Given the description of an element on the screen output the (x, y) to click on. 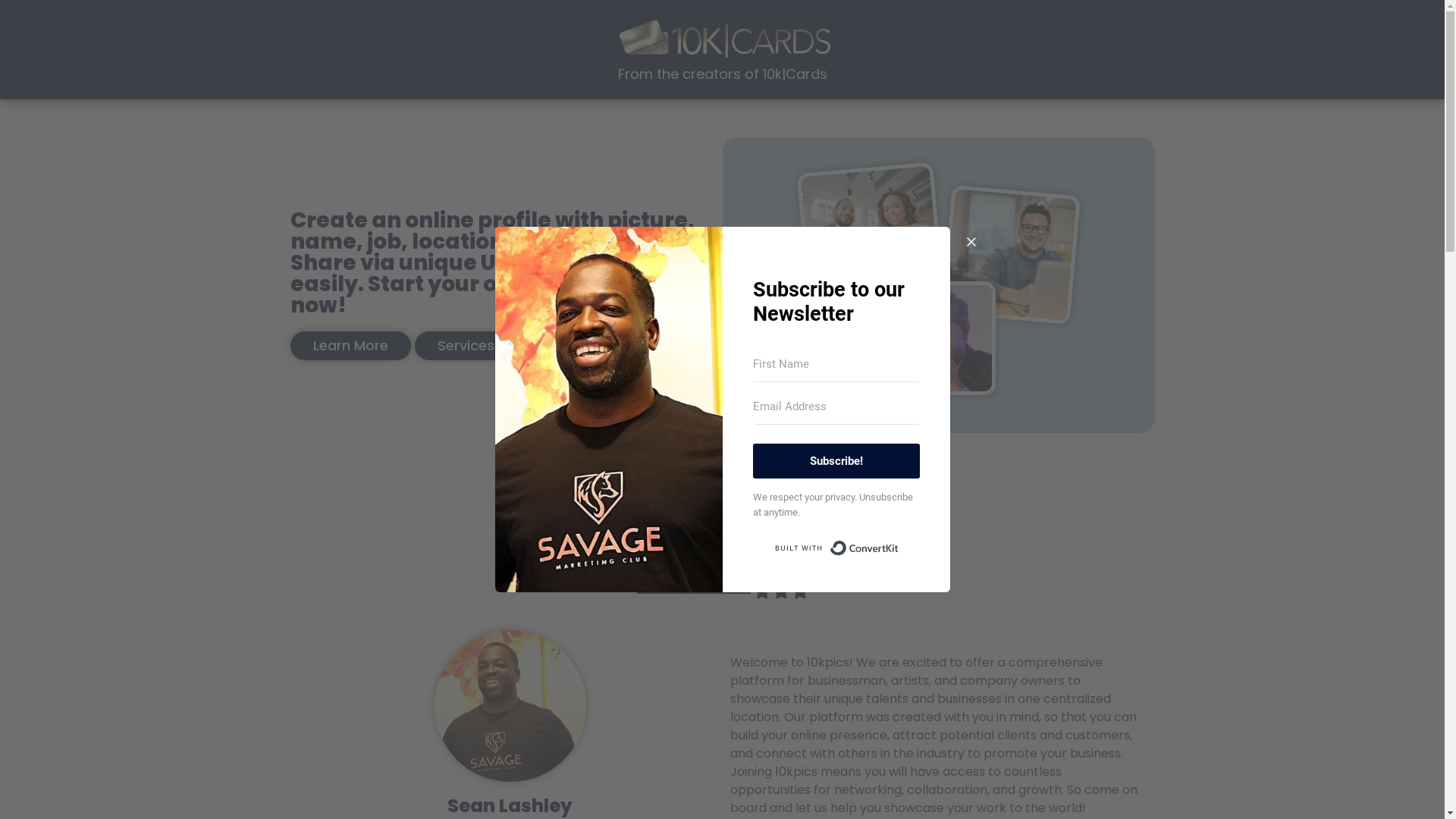
Built with ConvertKit Element type: text (836, 547)
Services Element type: text (465, 345)
Subscribe! Element type: text (835, 461)
Learn More Element type: text (349, 345)
